Given the description of an element on the screen output the (x, y) to click on. 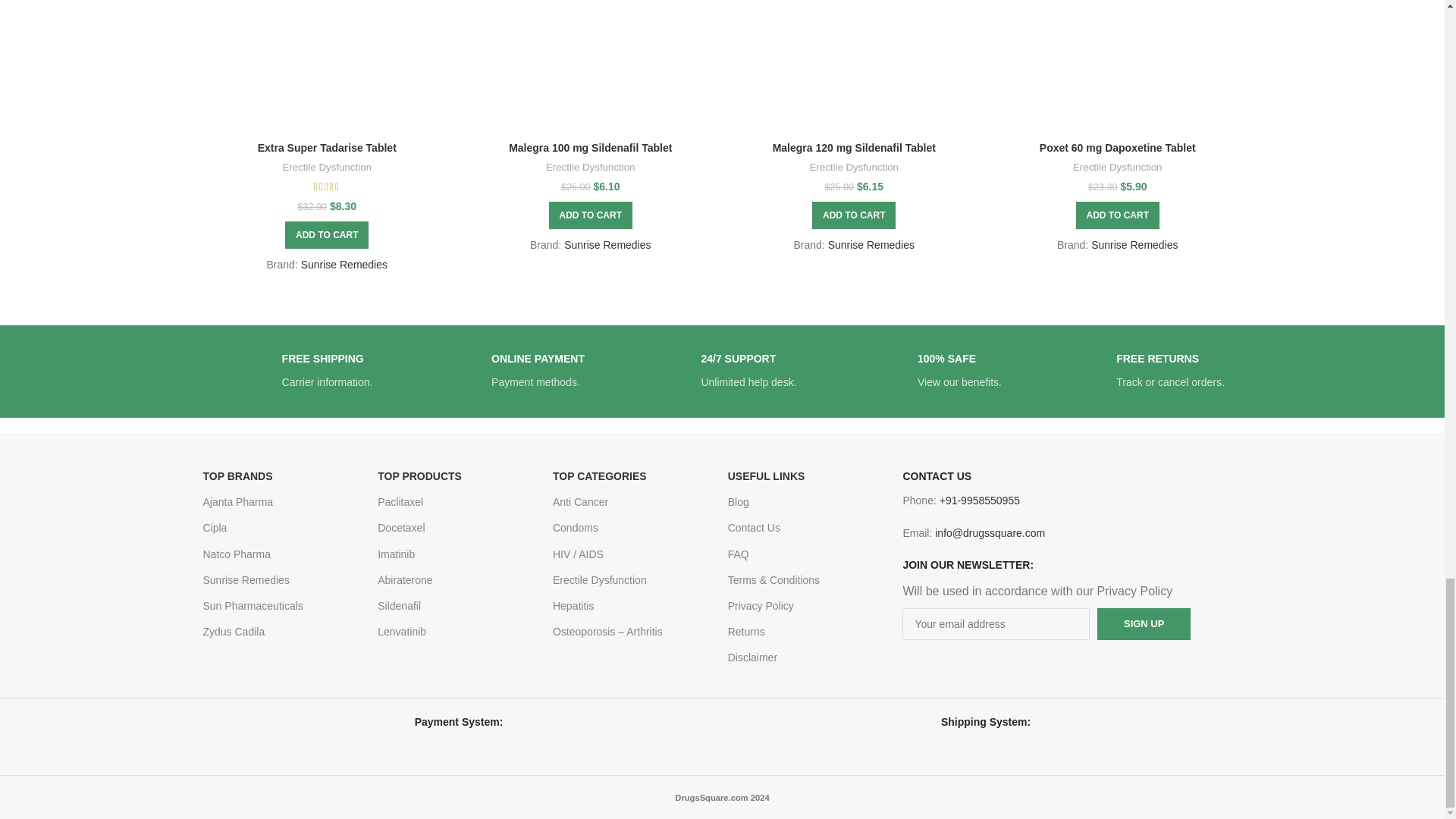
Free return drugssquare (1081, 370)
Free shipping Drugssquare (247, 370)
Online payment Drugssquare (457, 370)
Sign up (1144, 623)
Chat Support Drugssquare (666, 370)
Safe drugssquare (883, 370)
